Given the description of an element on the screen output the (x, y) to click on. 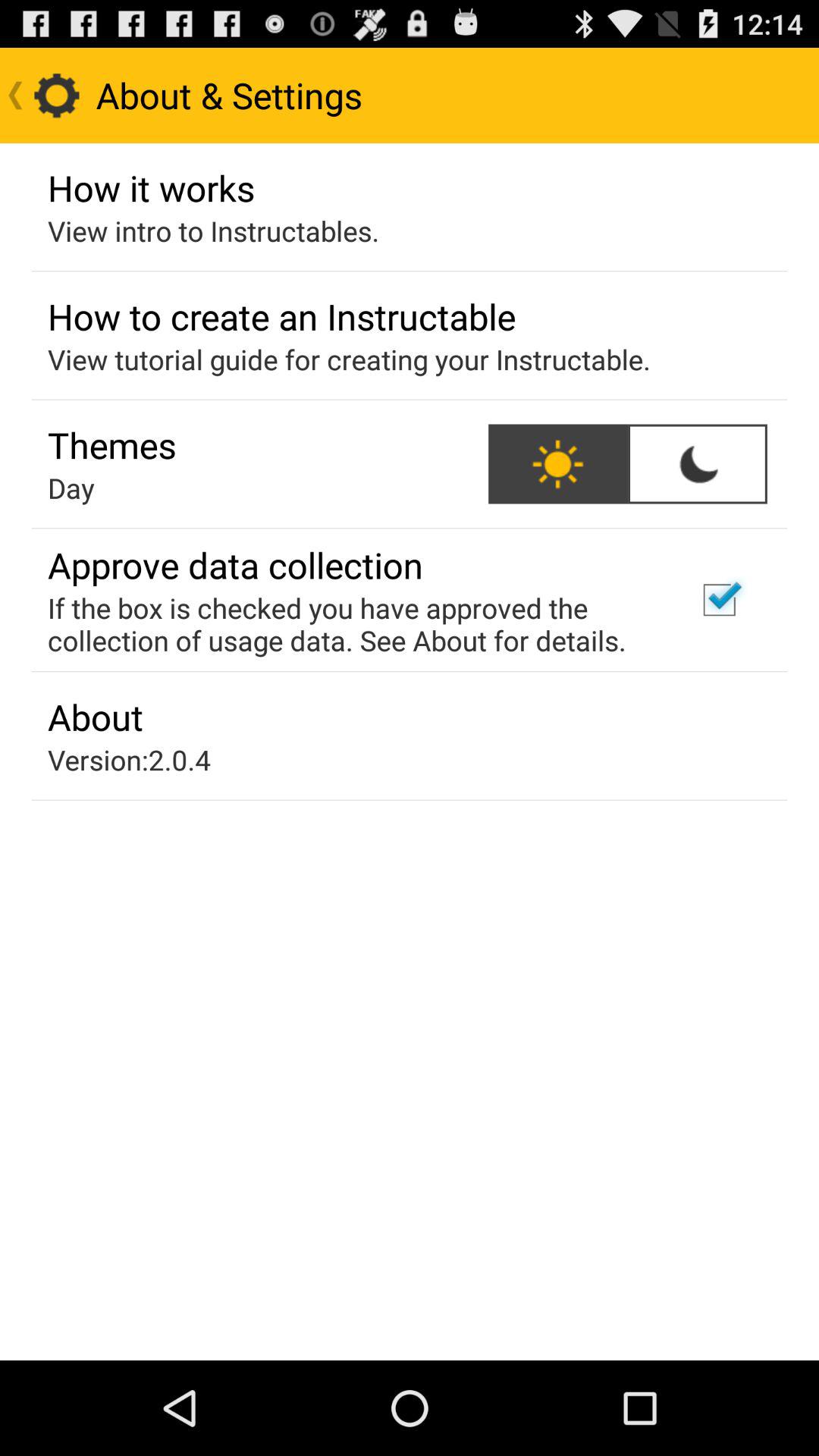
swipe until themes app (111, 444)
